Given the description of an element on the screen output the (x, y) to click on. 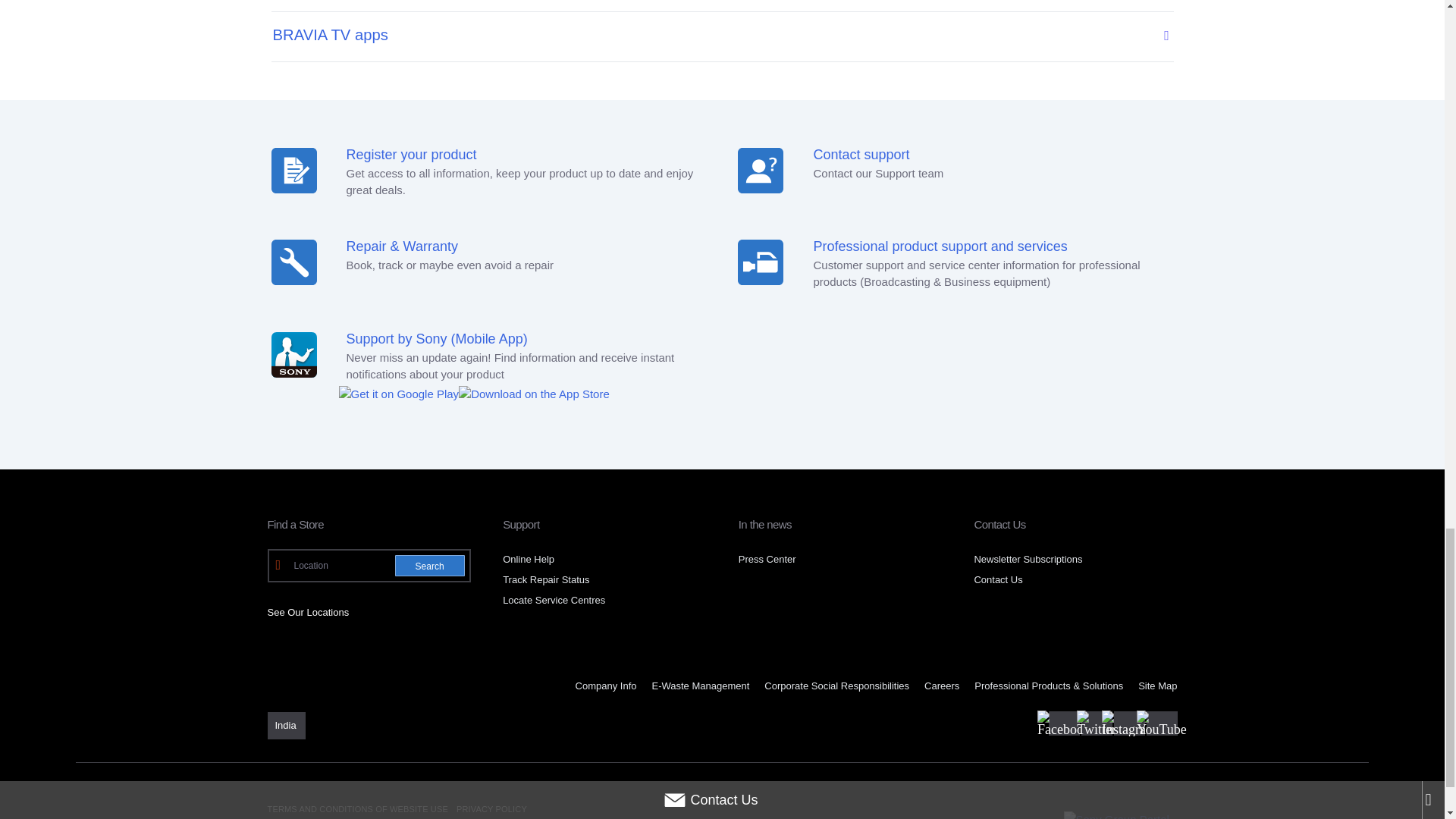
nntnnnttnn (760, 262)
